Given the description of an element on the screen output the (x, y) to click on. 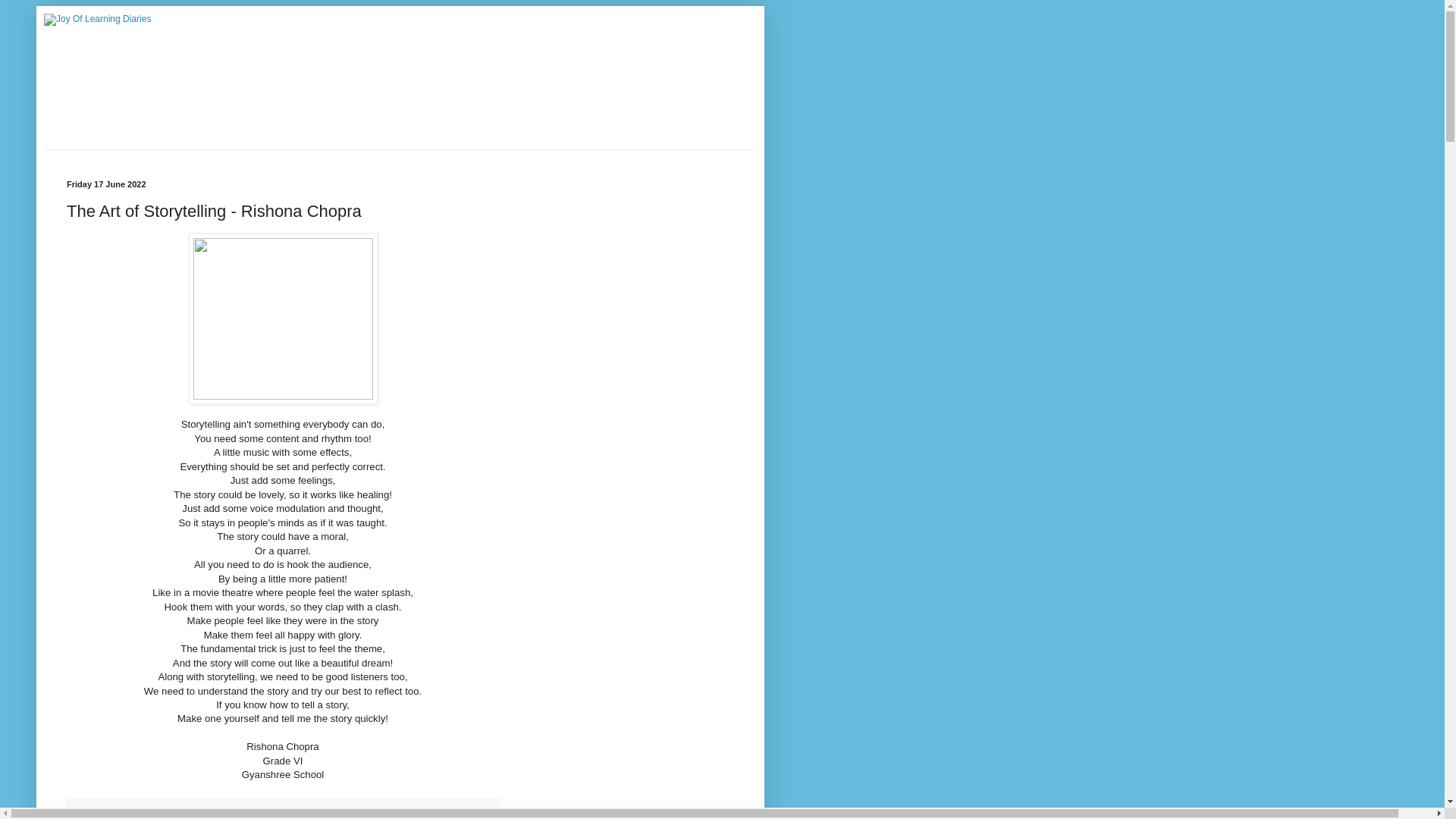
Share to Pinterest (303, 817)
Email This (91, 817)
BlogThis! (127, 817)
Email This (91, 817)
Share to Facebook (236, 817)
Share to Twitter (173, 817)
Share to Facebook (236, 817)
Share to Pinterest (303, 817)
Email Post (78, 808)
BlogThis! (127, 817)
Share to Twitter (173, 817)
